Given the description of an element on the screen output the (x, y) to click on. 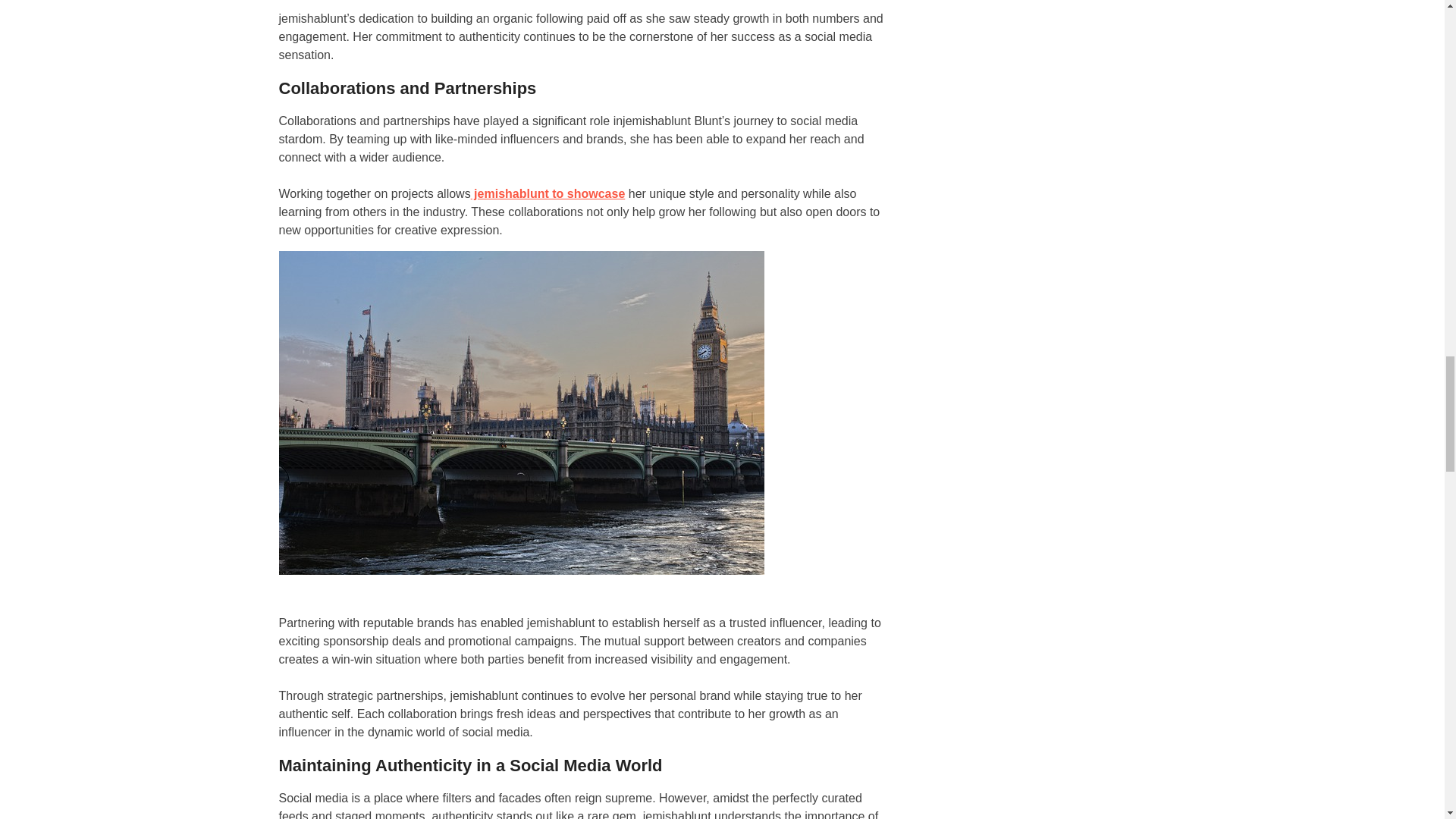
jemishablunt to showcase (548, 193)
